Given the description of an element on the screen output the (x, y) to click on. 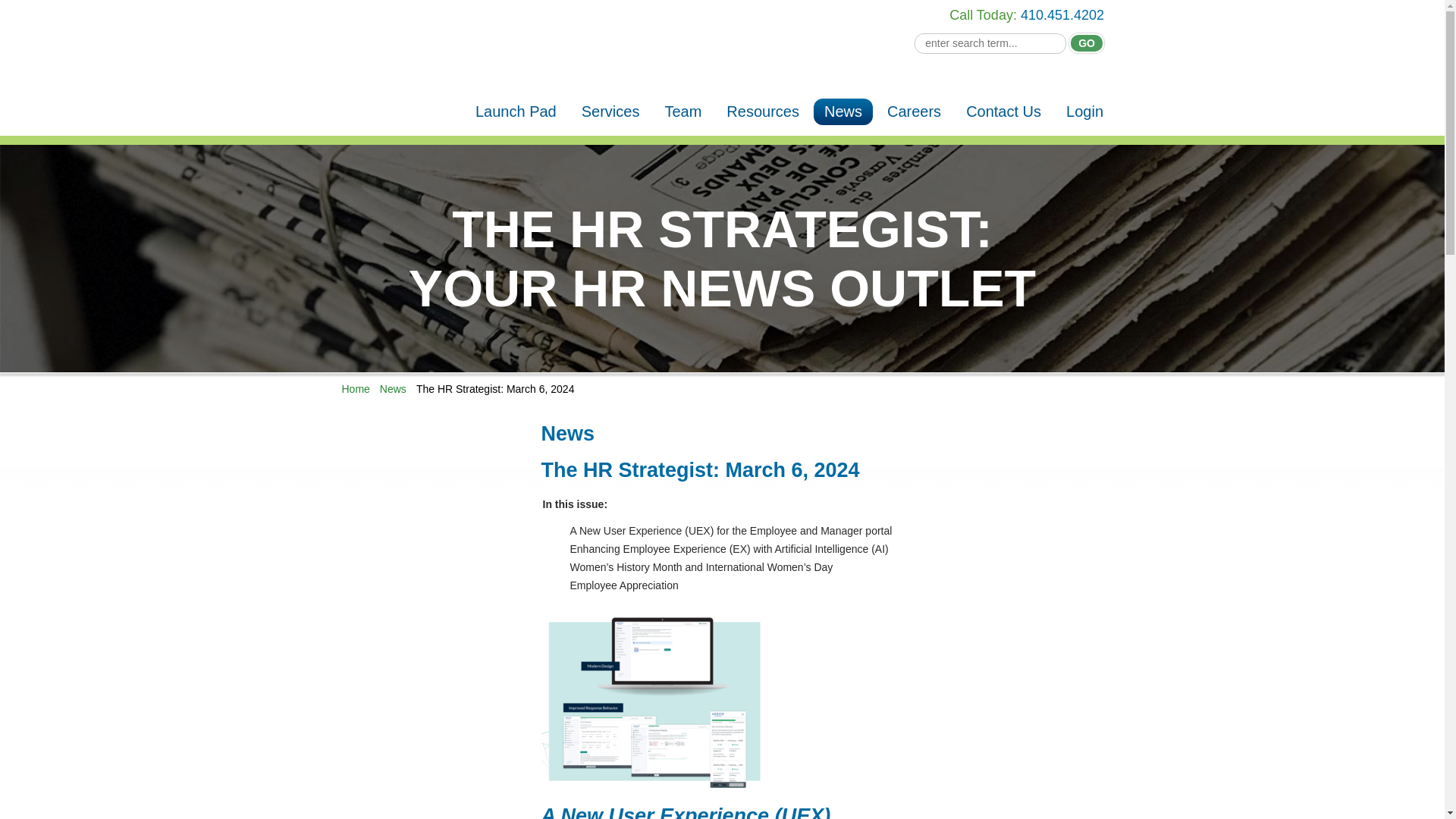
Services (610, 111)
News (842, 111)
Resources (762, 111)
Launch Pad (515, 111)
Careers (914, 111)
Login (1084, 111)
Home (354, 388)
Go (1085, 43)
Contact Us (1003, 111)
Go (1085, 43)
